Given the description of an element on the screen output the (x, y) to click on. 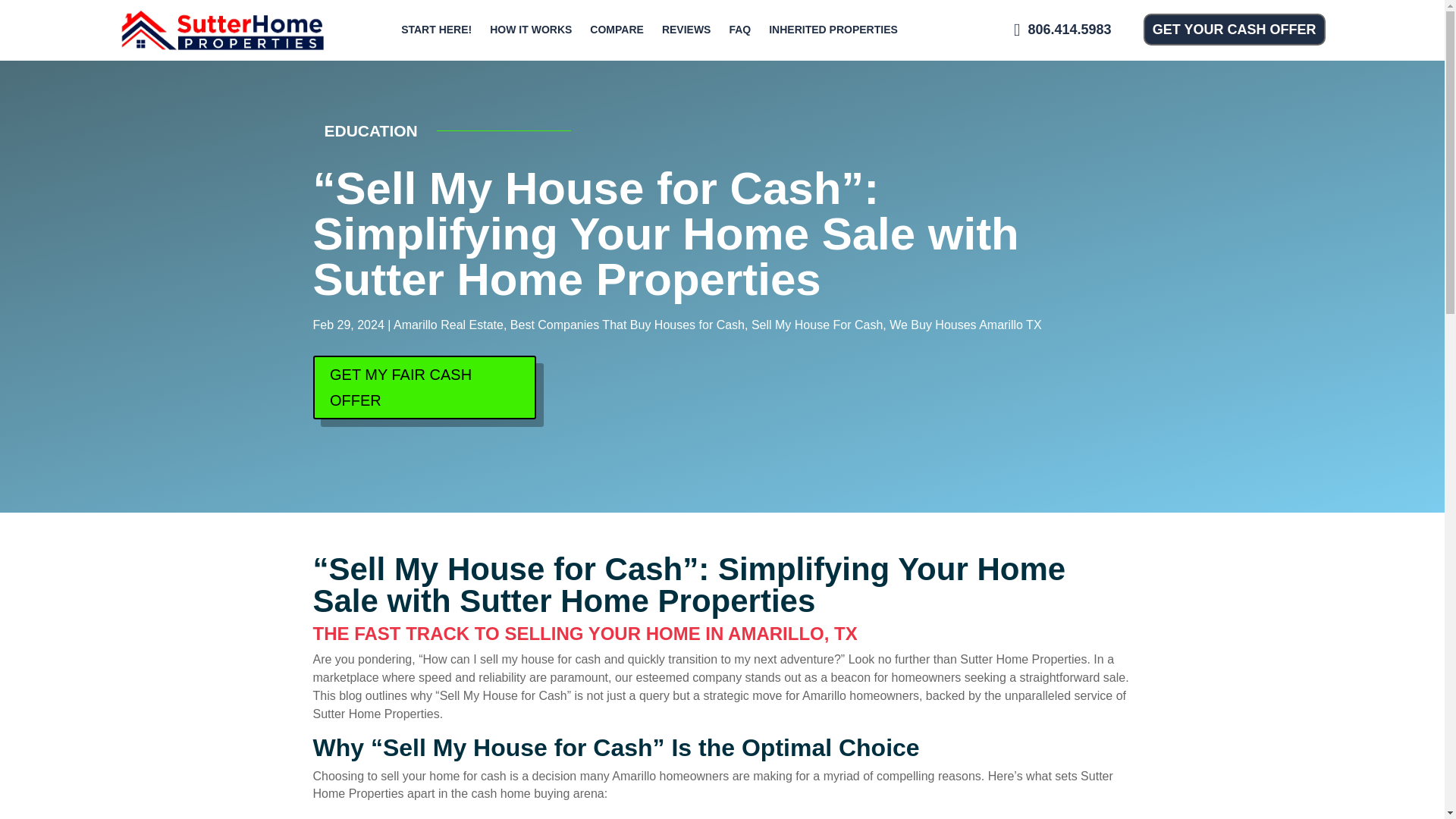
INHERITED PROPERTIES (833, 29)
Sell My House For Cash (816, 324)
HOW IT WORKS (530, 29)
Amarillo Real Estate (448, 324)
START HERE! (435, 29)
806.414.5983 (1062, 29)
Selling Inherited Properties (833, 29)
COMPARE (616, 29)
GET YOUR CASH OFFER (1233, 29)
FAQ (739, 29)
Best Companies That Buy Houses for Cash (627, 324)
REVIEWS (686, 29)
GET MY FAIR CASH OFFER (424, 387)
We Buy Houses Amarillo TX (965, 324)
